Given the description of an element on the screen output the (x, y) to click on. 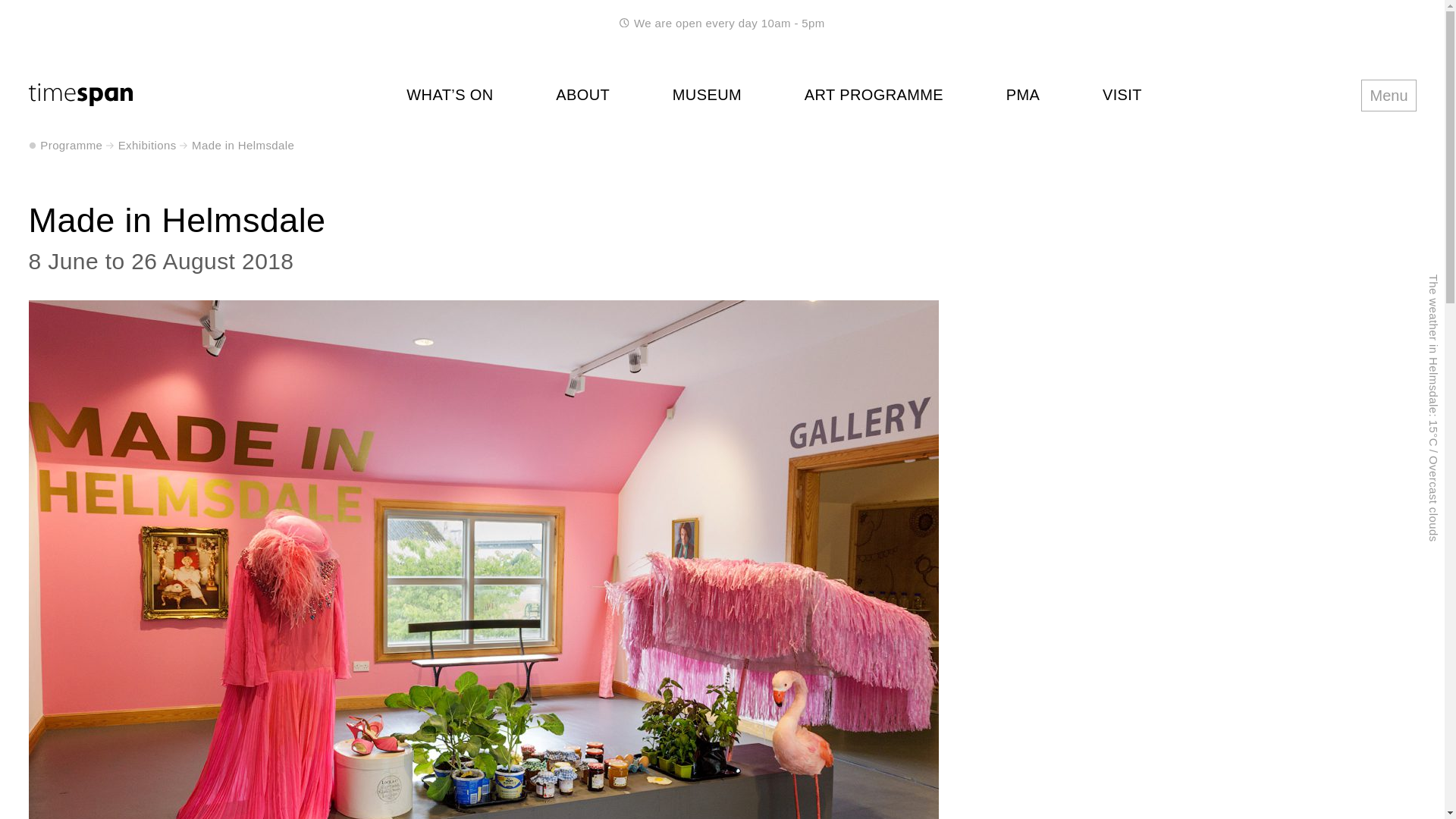
Timespan (80, 98)
PMA (1023, 94)
MUSEUM (706, 94)
Skip to content (16, 16)
Menu (1388, 94)
ART PROGRAMME (874, 94)
ABOUT (583, 94)
VISIT (1121, 94)
